Given the description of an element on the screen output the (x, y) to click on. 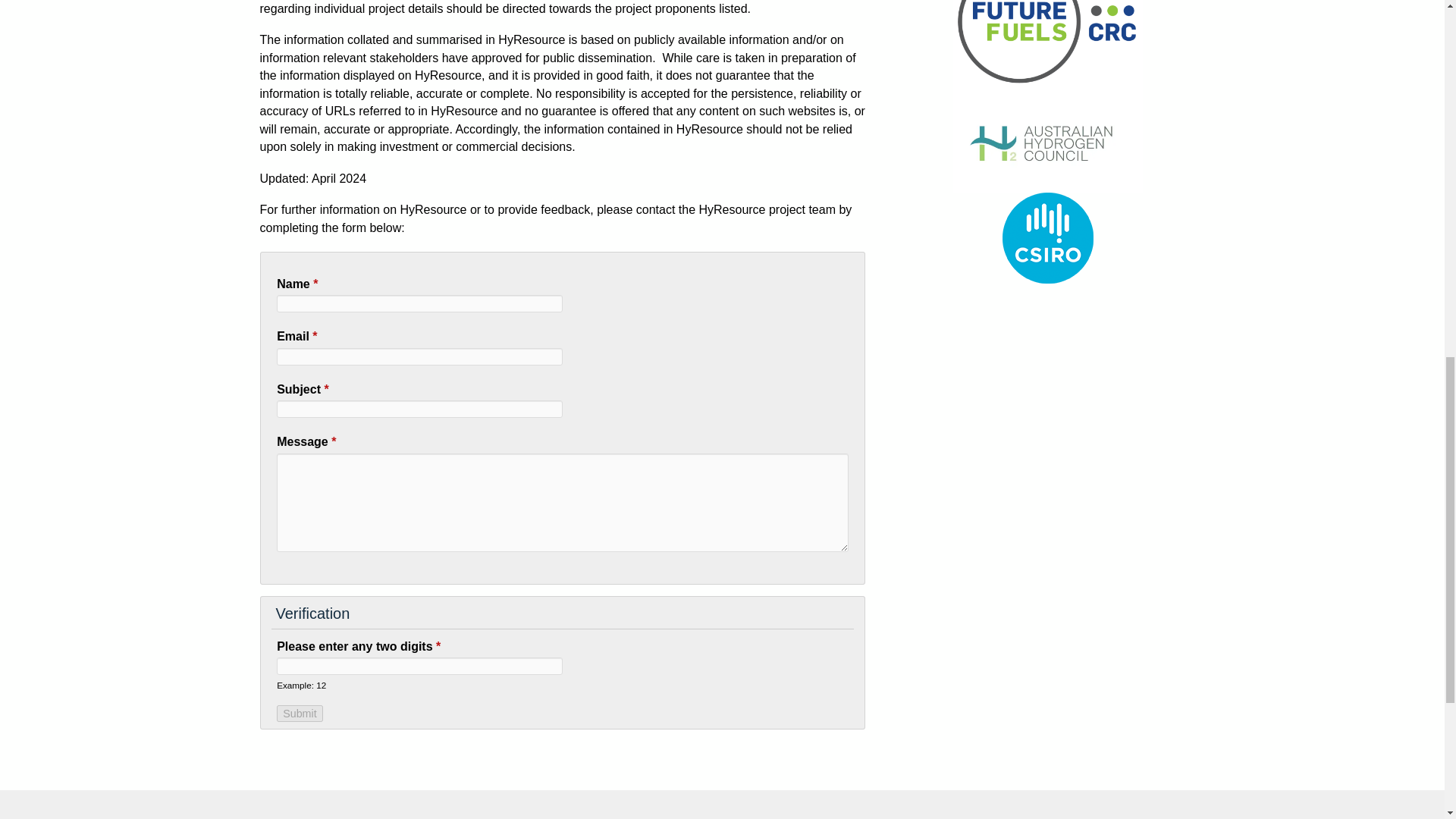
Submit (299, 713)
